Given the description of an element on the screen output the (x, y) to click on. 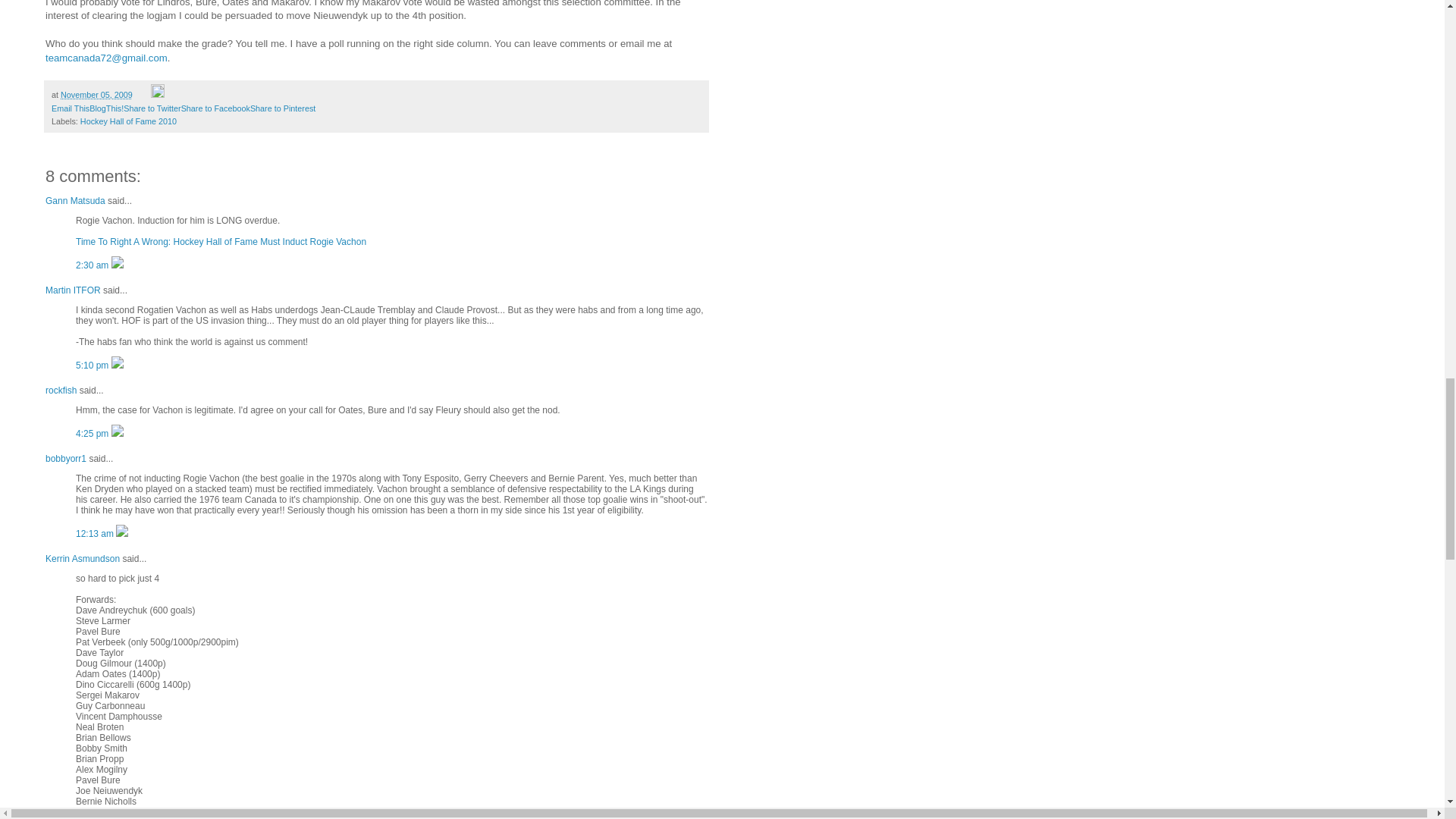
Delete Comment (117, 365)
BlogThis! (105, 108)
Delete Comment (117, 433)
Edit Post (157, 94)
Email Post (143, 94)
Share to Pinterest (282, 108)
Share to Facebook (215, 108)
comment permalink (93, 433)
comment permalink (95, 533)
comment permalink (93, 265)
Share to Twitter (151, 108)
permanent link (96, 94)
Email This (69, 108)
Delete Comment (117, 265)
comment permalink (93, 365)
